Given the description of an element on the screen output the (x, y) to click on. 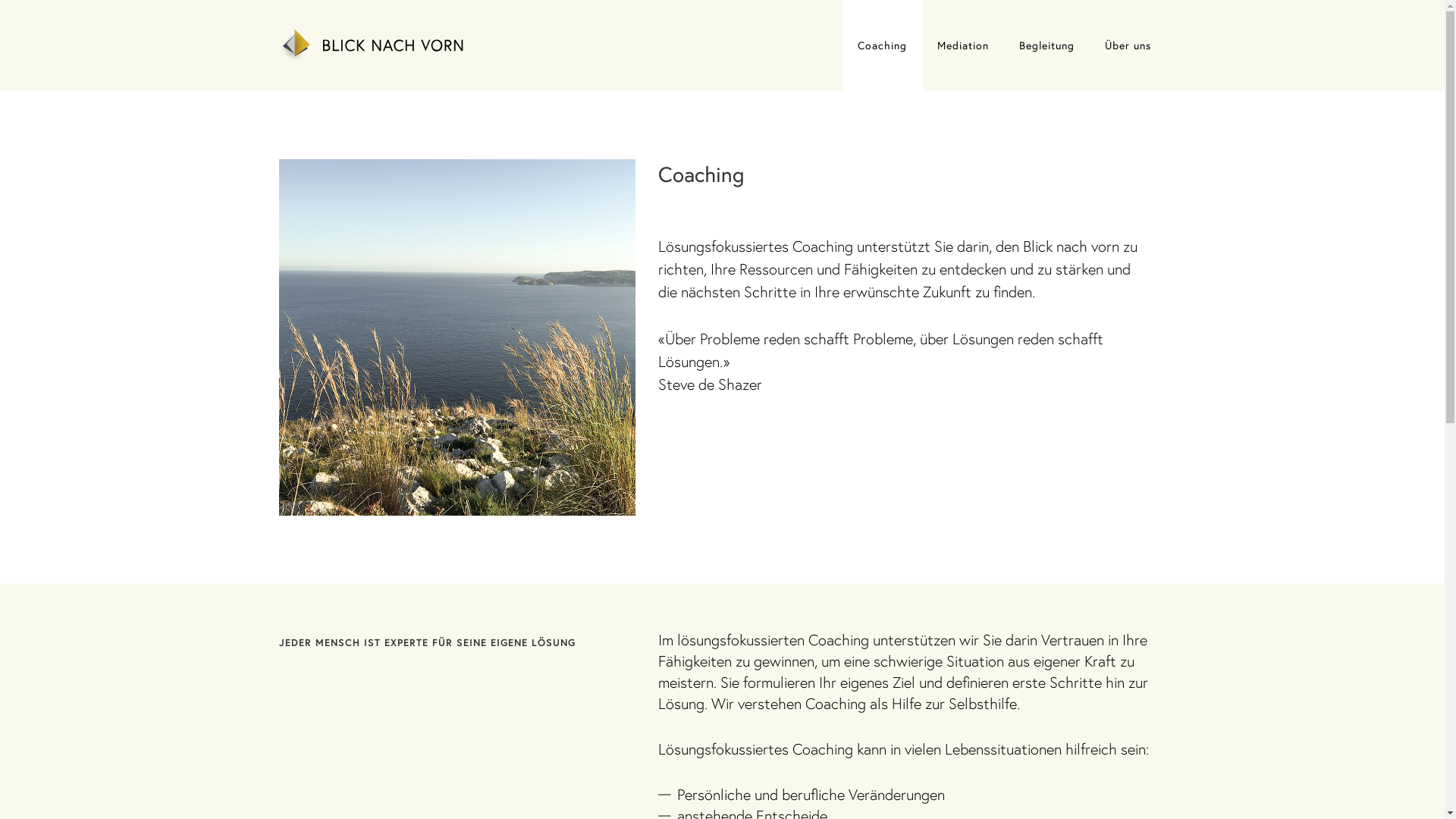
Coaching Element type: text (881, 45)
Begleitung Element type: text (1046, 45)
Mediation Element type: text (963, 45)
Blick nach vorn Element type: hover (375, 40)
